Given the description of an element on the screen output the (x, y) to click on. 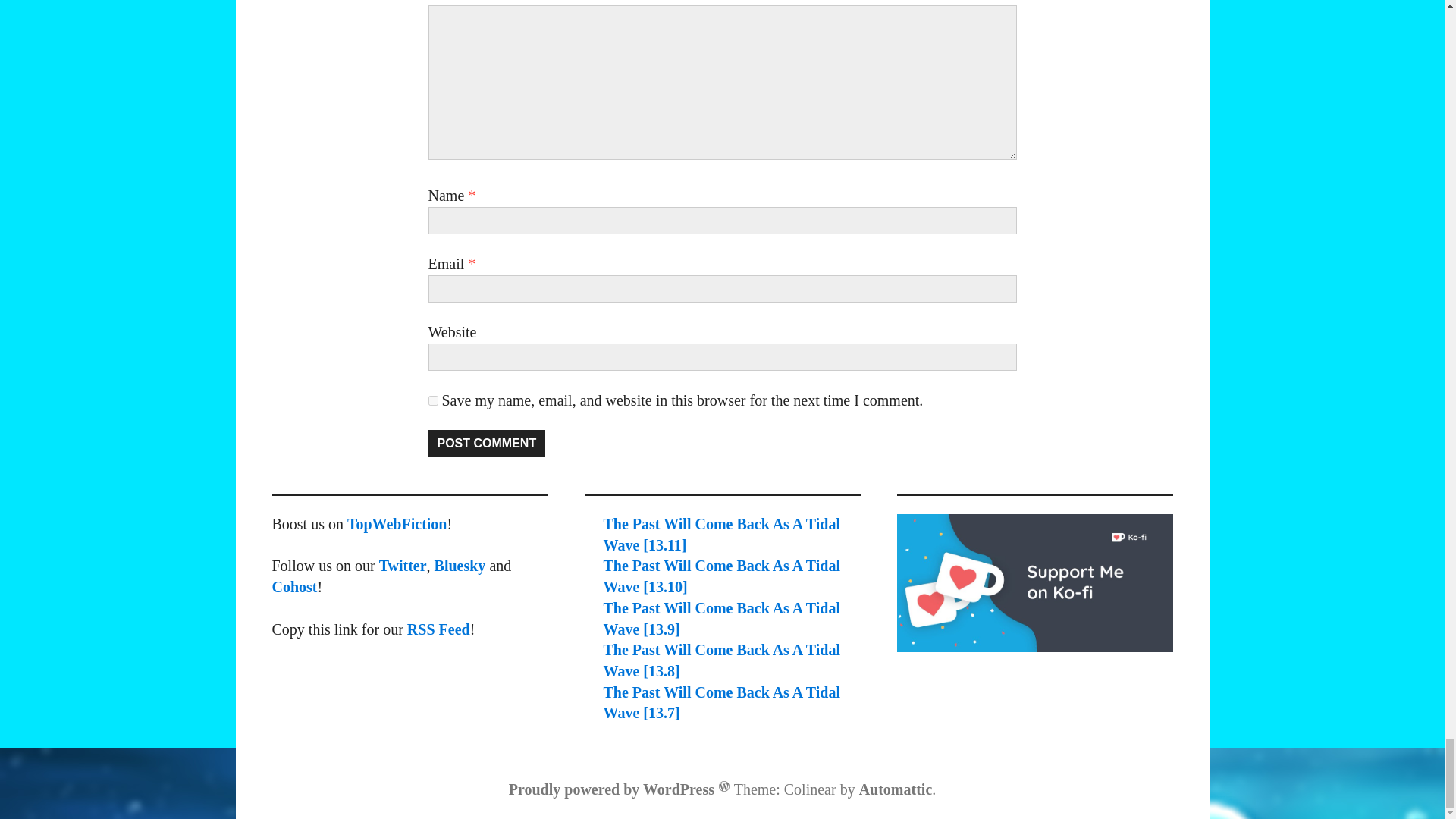
TopWebFiction (396, 523)
yes (433, 400)
Post Comment (486, 443)
Twitter (402, 565)
Cohost (293, 586)
Post Comment (486, 443)
Bluesky (459, 565)
RSS Feed (438, 628)
